Given the description of an element on the screen output the (x, y) to click on. 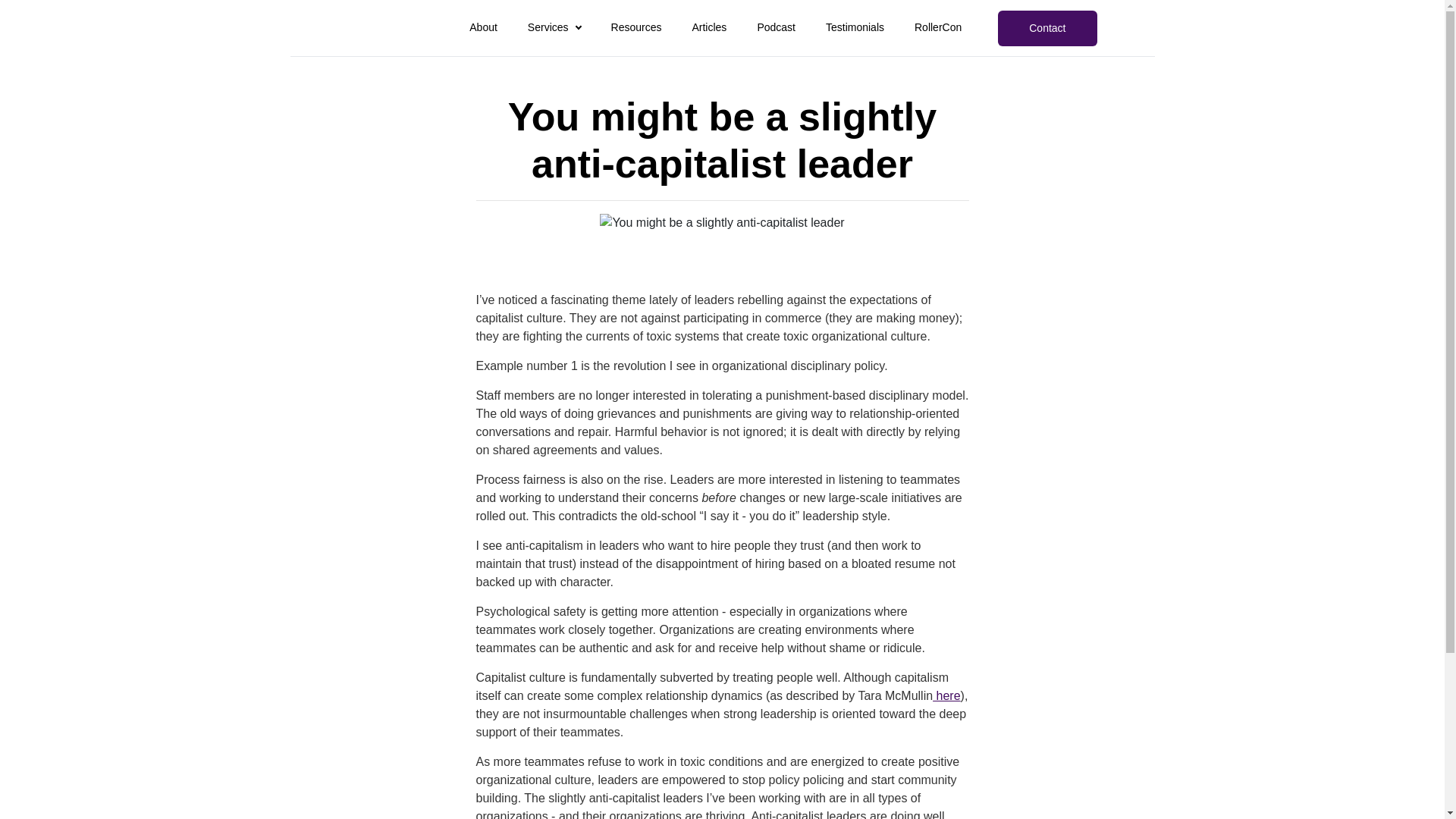
RollerCon (937, 28)
here (946, 695)
Testimonials (854, 28)
Resources (636, 28)
Articles (708, 28)
About (482, 28)
Podcast (775, 28)
Contact (1046, 27)
Services (553, 28)
